Given the description of an element on the screen output the (x, y) to click on. 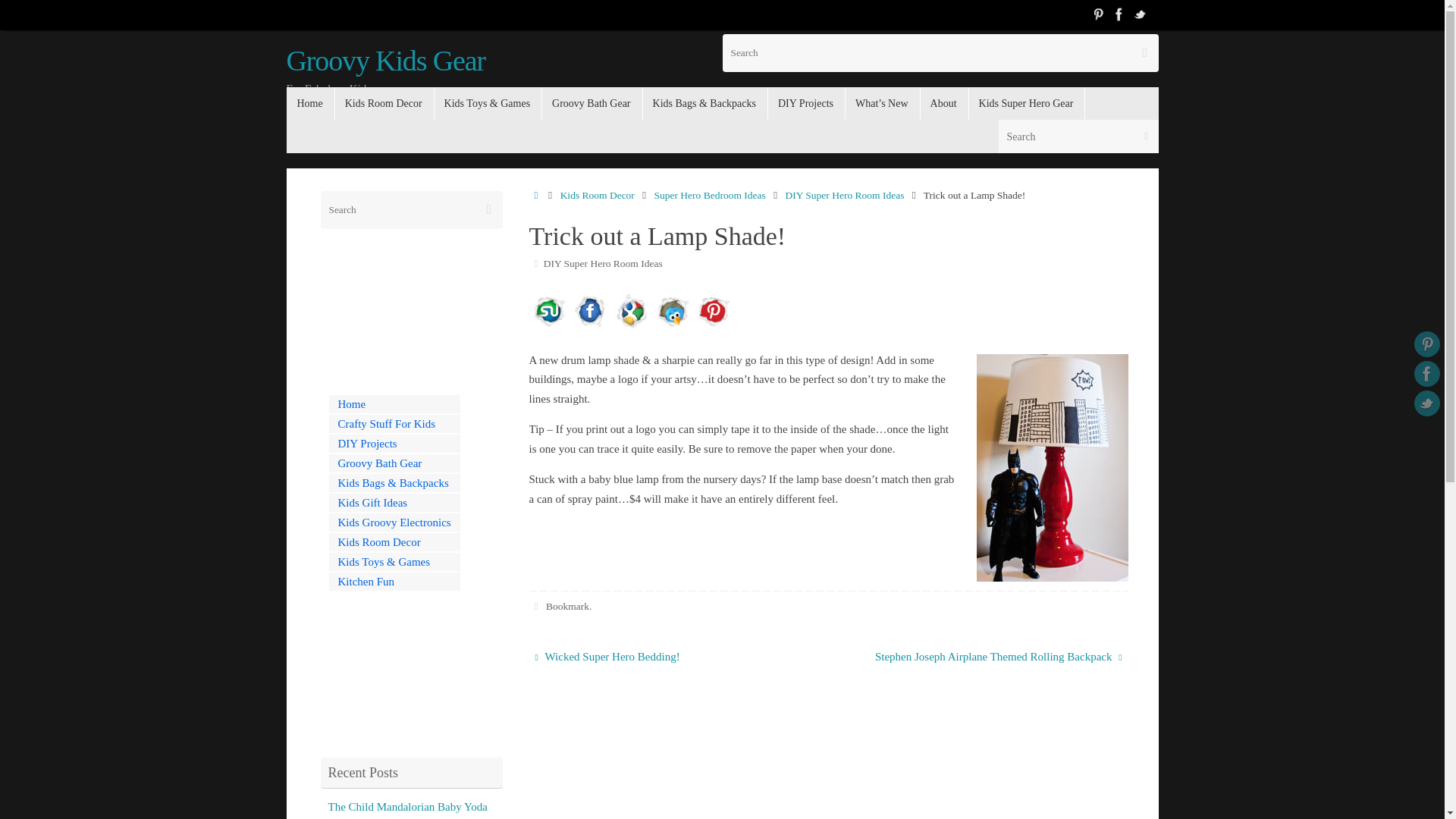
Share via StumbleUpon (549, 326)
Wicked Super Hero Bedding! (669, 656)
Share via Twitter (671, 326)
Twitter (1140, 14)
Share via Pinterest (712, 326)
Bookmark (567, 605)
DIY Projects (393, 443)
Home (393, 403)
Groovy Bath Gear (393, 463)
Stephen Joseph Airplane Themed Rolling Backpack (985, 656)
